Given the description of an element on the screen output the (x, y) to click on. 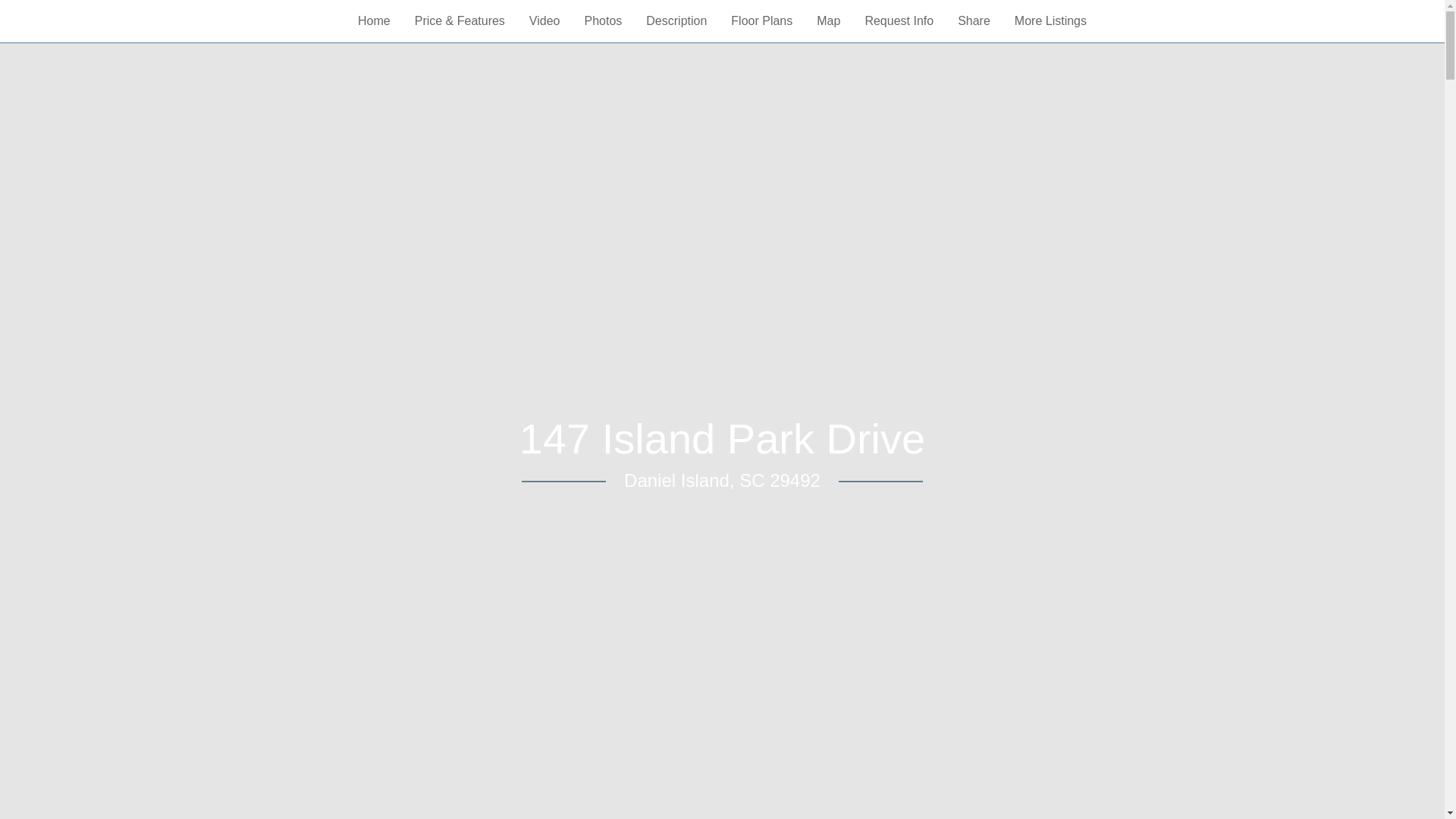
More Listings Element type: text (1050, 21)
Description Element type: text (675, 21)
Share Element type: text (973, 21)
Photos Element type: text (602, 21)
Price & Features Element type: text (459, 21)
Map Element type: text (828, 21)
Request Info Element type: text (898, 21)
Floor Plans Element type: text (761, 21)
Home Element type: text (373, 21)
Video Element type: text (544, 21)
